Given the description of an element on the screen output the (x, y) to click on. 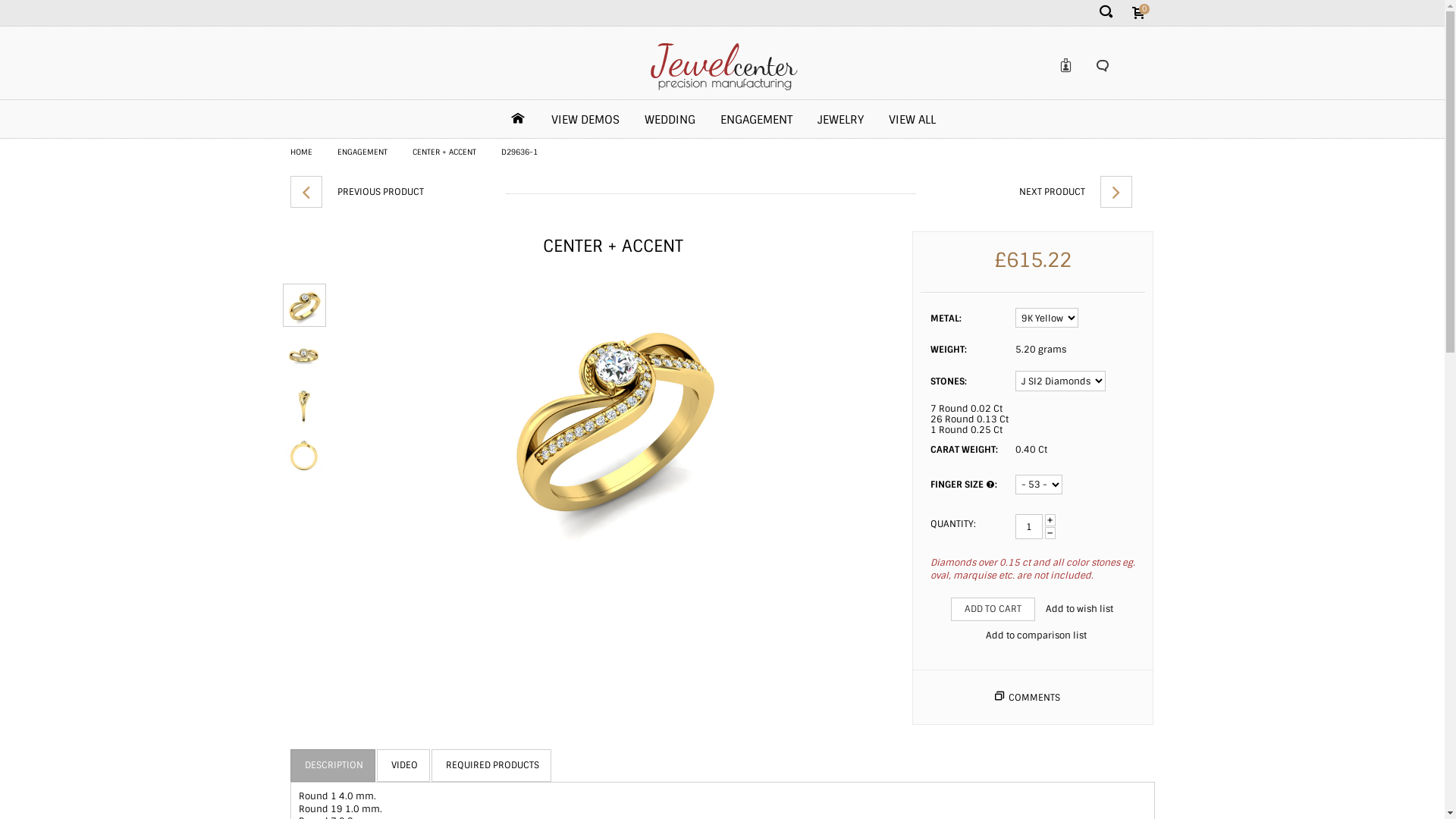
Language Element type: hover (1101, 65)
We can adjust finger size chart to your country requirement Element type: hover (989, 485)
+ Element type: text (1049, 520)
WEDDING Element type: text (669, 123)
Add to wish list Element type: text (1078, 609)
Account Element type: hover (1068, 65)
ENGAGEMENT Element type: text (756, 123)
Next Element type: hover (1115, 191)
Add to comparison list Element type: text (1036, 635)
ADD TO CART Element type: text (992, 609)
JewelCenter Element type: hover (721, 63)
COMMENTS Element type: text (1034, 697)
Prev Element type: hover (305, 191)
REQUIRED PRODUCTS Element type: text (491, 764)
ENGAGEMENT Element type: text (361, 151)
JEWELRY Element type: text (840, 123)
VIEW ALL Element type: text (912, 123)
CENTER + ACCENT Element type: text (444, 151)
VIDEO Element type: text (403, 764)
0 Element type: text (1138, 13)
VIEW DEMOS Element type: text (584, 123)
HOME Element type: text (300, 151)
DESCRIPTION Element type: text (332, 764)
